Given the description of an element on the screen output the (x, y) to click on. 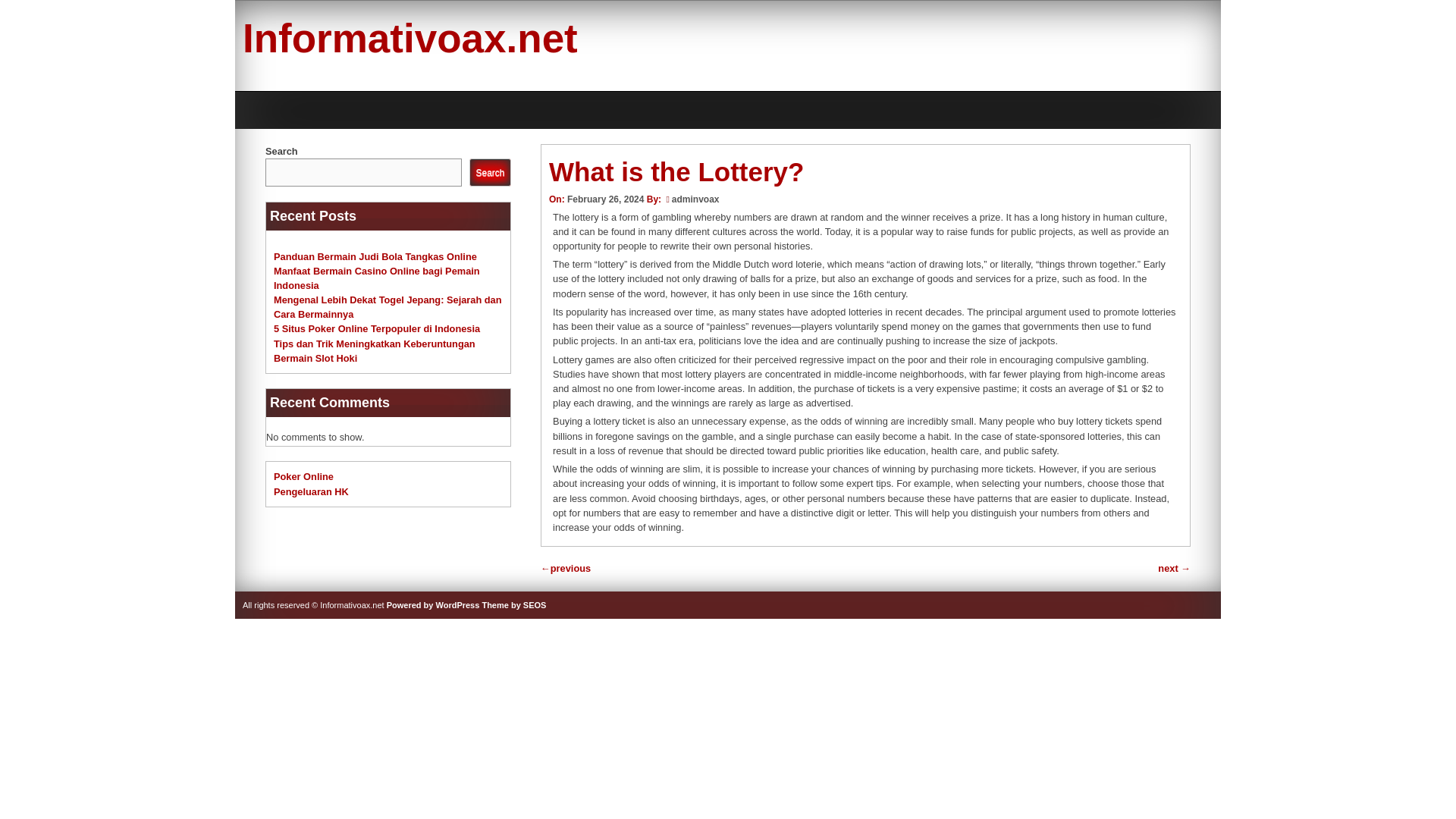
5 Situs Poker Online Terpopuler di Indonesia (376, 328)
Poker Online (303, 476)
Tips dan Trik Meningkatkan Keberuntungan Bermain Slot Hoki (374, 350)
adminvoax (695, 199)
Informativoax.net (410, 37)
February 26, 2024 (605, 199)
Search (489, 172)
Panduan Bermain Judi Bola Tangkas Online (375, 255)
Seos free wordpress themes (513, 604)
Powered by WordPress (433, 604)
Manfaat Bermain Casino Online bagi Pemain Indonesia (376, 278)
Pengeluaran HK (311, 491)
Theme by SEOS (513, 604)
